Given the description of an element on the screen output the (x, y) to click on. 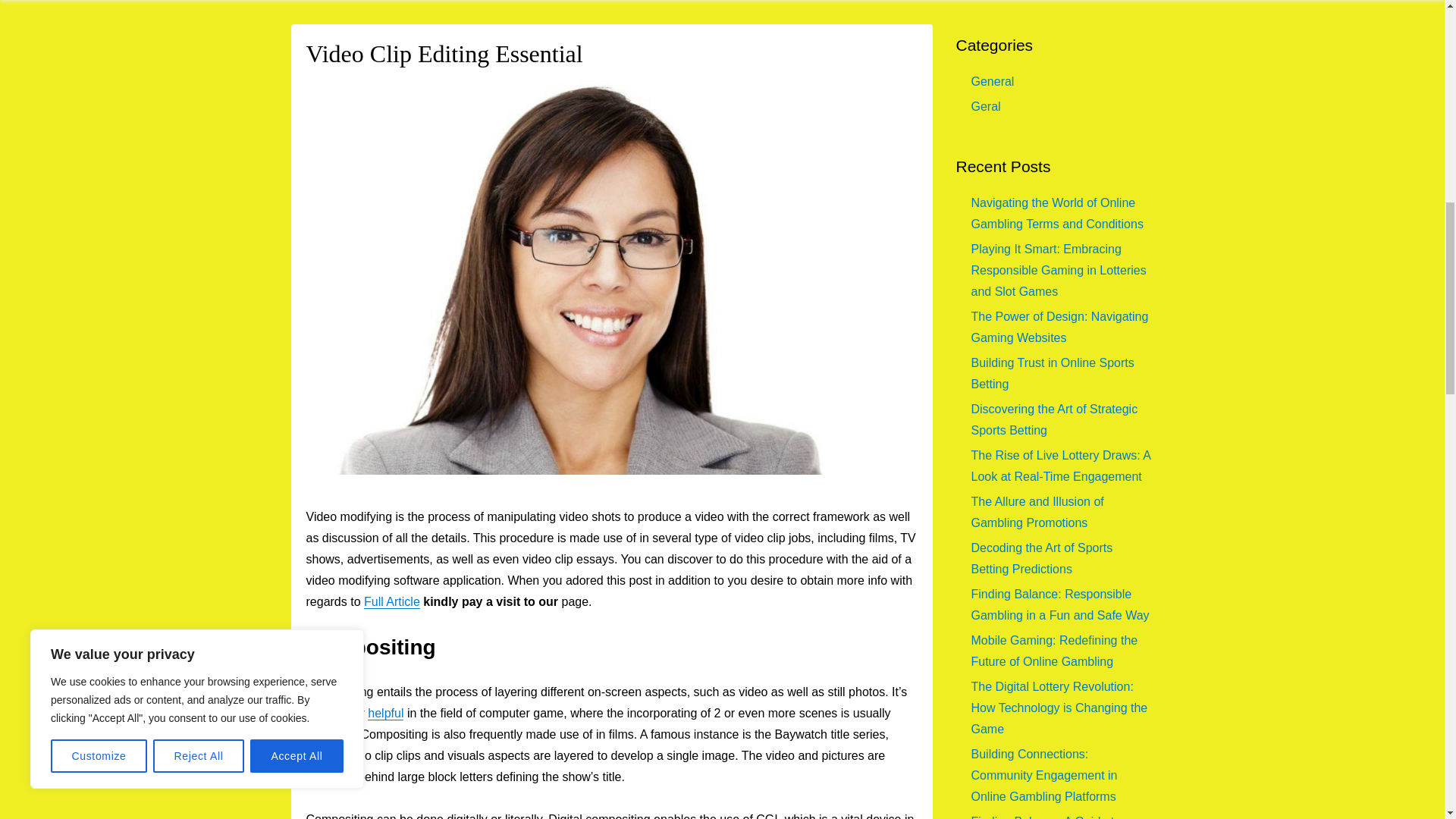
Building Trust in Online Sports Betting (1052, 373)
General (992, 81)
The Power of Design: Navigating Gaming Websites (1059, 326)
Navigating the World of Online Gambling Terms and Conditions (1056, 213)
Geral (985, 106)
Discovering the Art of Strategic Sports Betting (1054, 419)
Full Article (392, 601)
helpful (385, 712)
